Given the description of an element on the screen output the (x, y) to click on. 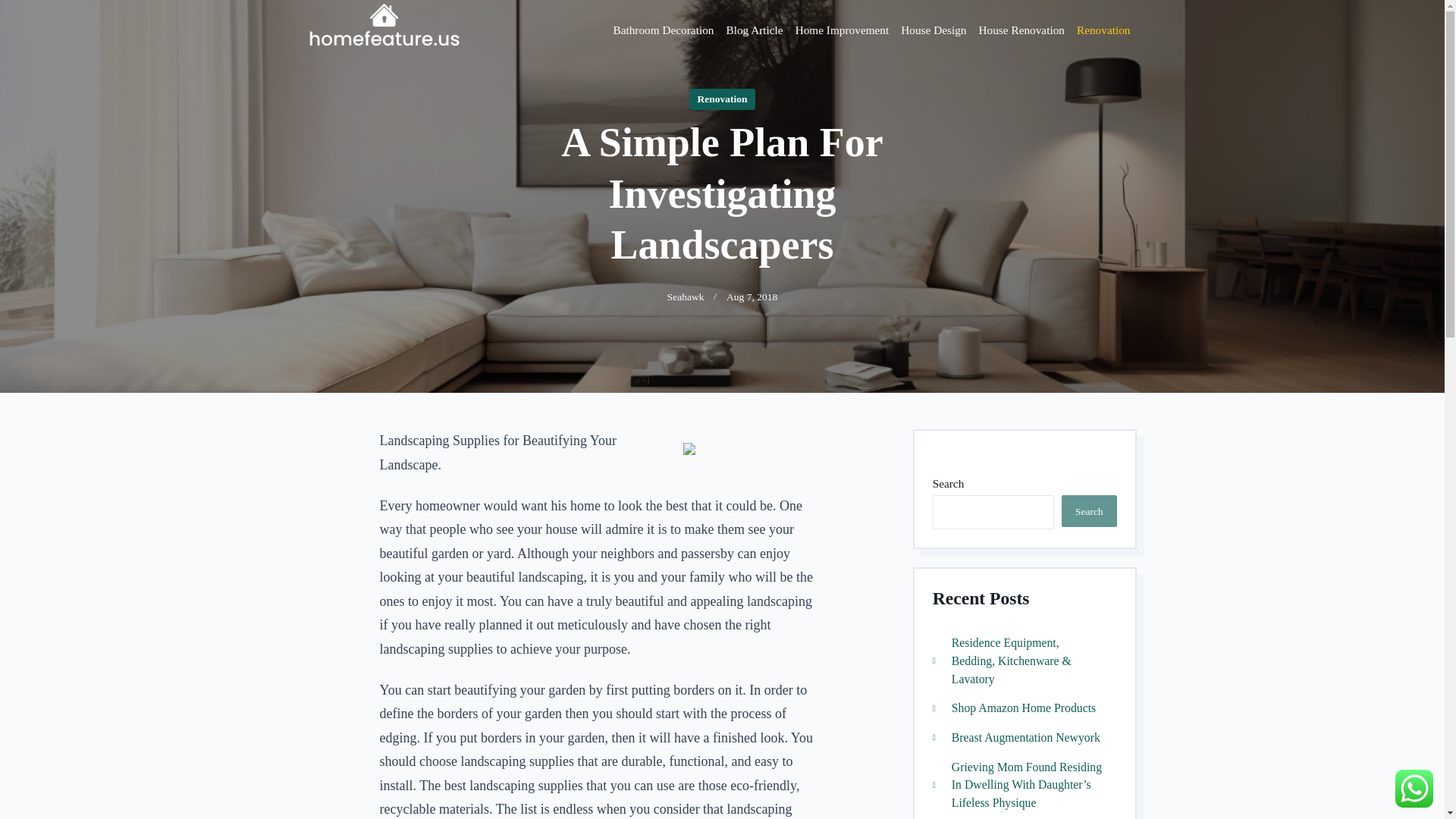
Home Improvement (842, 30)
Blog Article (754, 30)
House Renovation (1021, 30)
Renovation (721, 98)
Renovation (1103, 30)
House Design (1024, 488)
Bathroom Decoration (933, 30)
Breast Augmentation Newyork (663, 30)
Search (1026, 737)
Aug 7, 2018 (1088, 511)
Seahawk (751, 296)
Shop Amazon Home Products (685, 296)
